Given the description of an element on the screen output the (x, y) to click on. 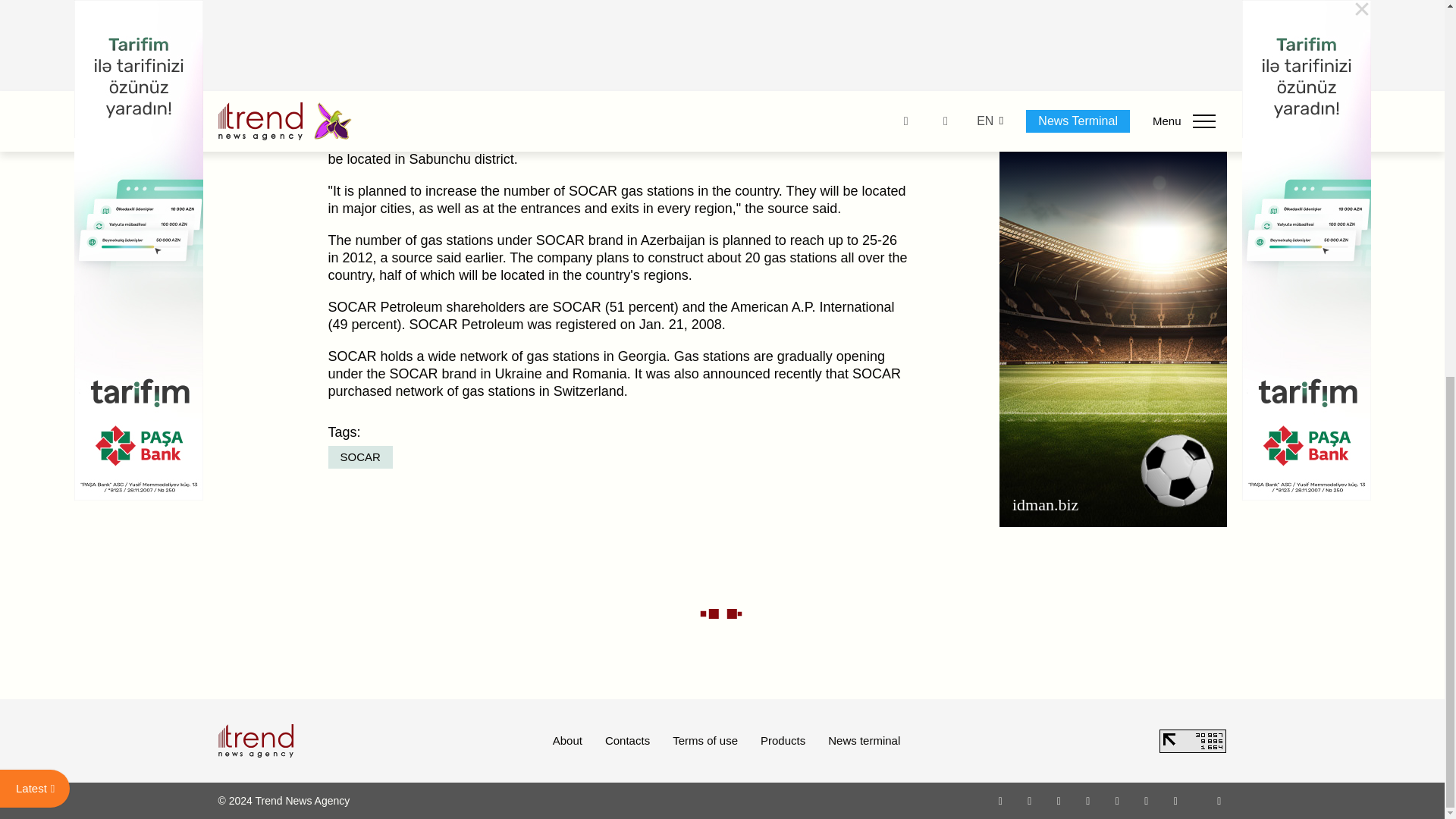
Youtube (1088, 800)
Telegram (1117, 800)
RSS Feed (1219, 800)
Twitter (1059, 800)
Facebook (1029, 800)
LinkedIn (1146, 800)
Android App (1176, 800)
Whatsapp (1000, 800)
